Given the description of an element on the screen output the (x, y) to click on. 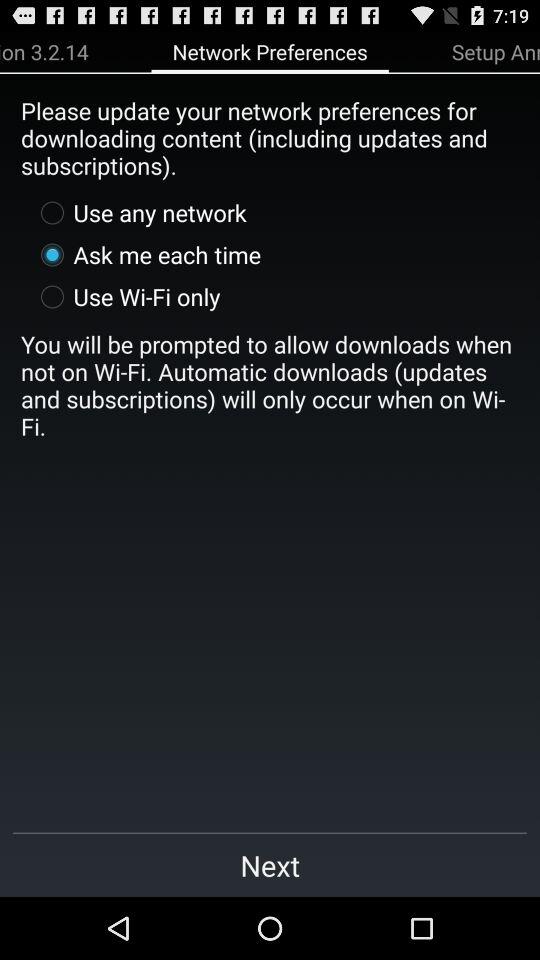
press item below please update your app (138, 212)
